Given the description of an element on the screen output the (x, y) to click on. 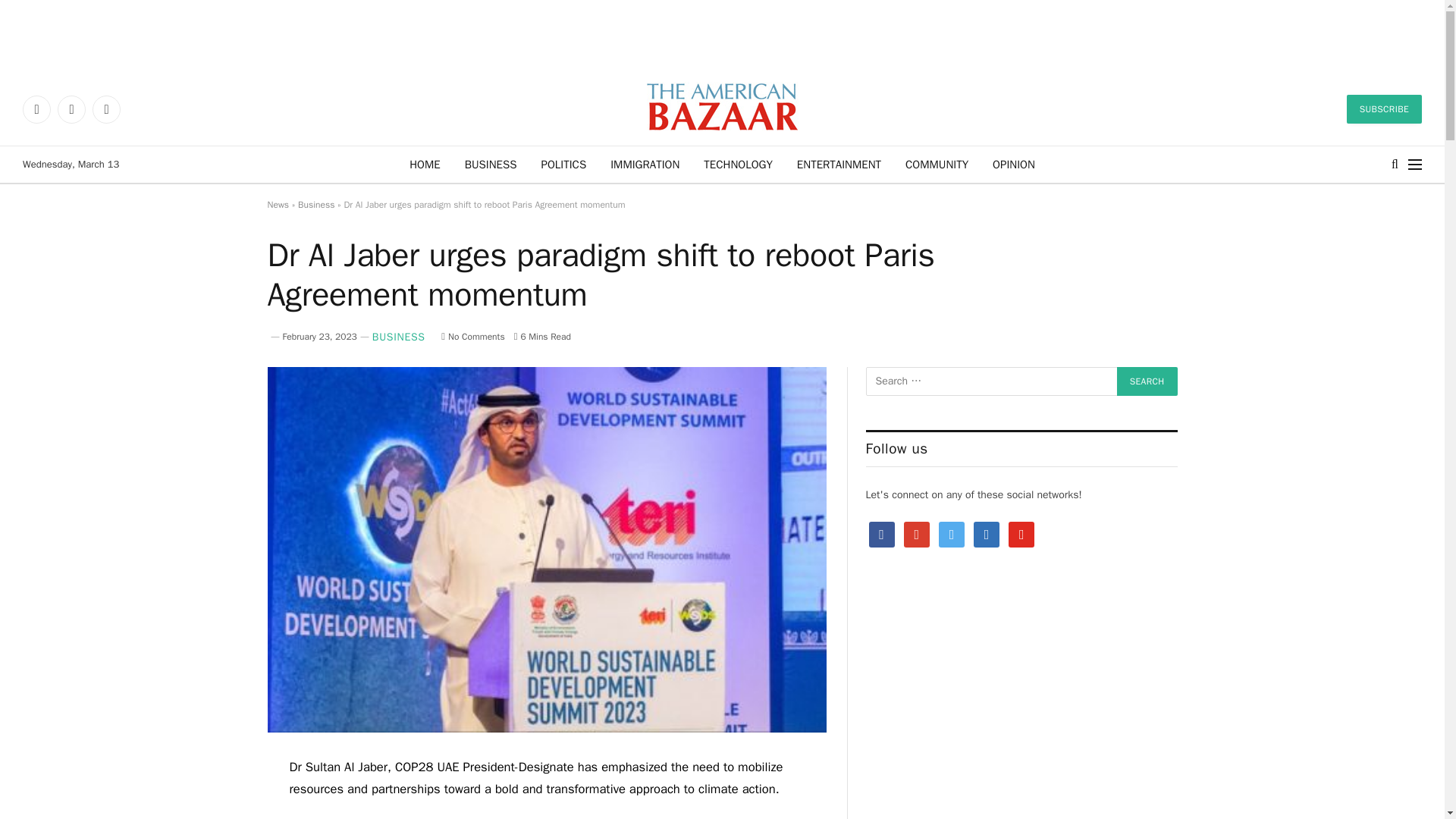
OPINION (1012, 164)
Twitter (71, 109)
HOME (424, 164)
BUSINESS (490, 164)
Search (1146, 380)
Instagram (106, 109)
Entertainment (838, 164)
Search (1146, 380)
Business (316, 204)
COMMUNITY (936, 164)
SUBSCRIBE (1384, 109)
Technology (737, 164)
POLITICS (563, 164)
No Comments (472, 336)
